Given the description of an element on the screen output the (x, y) to click on. 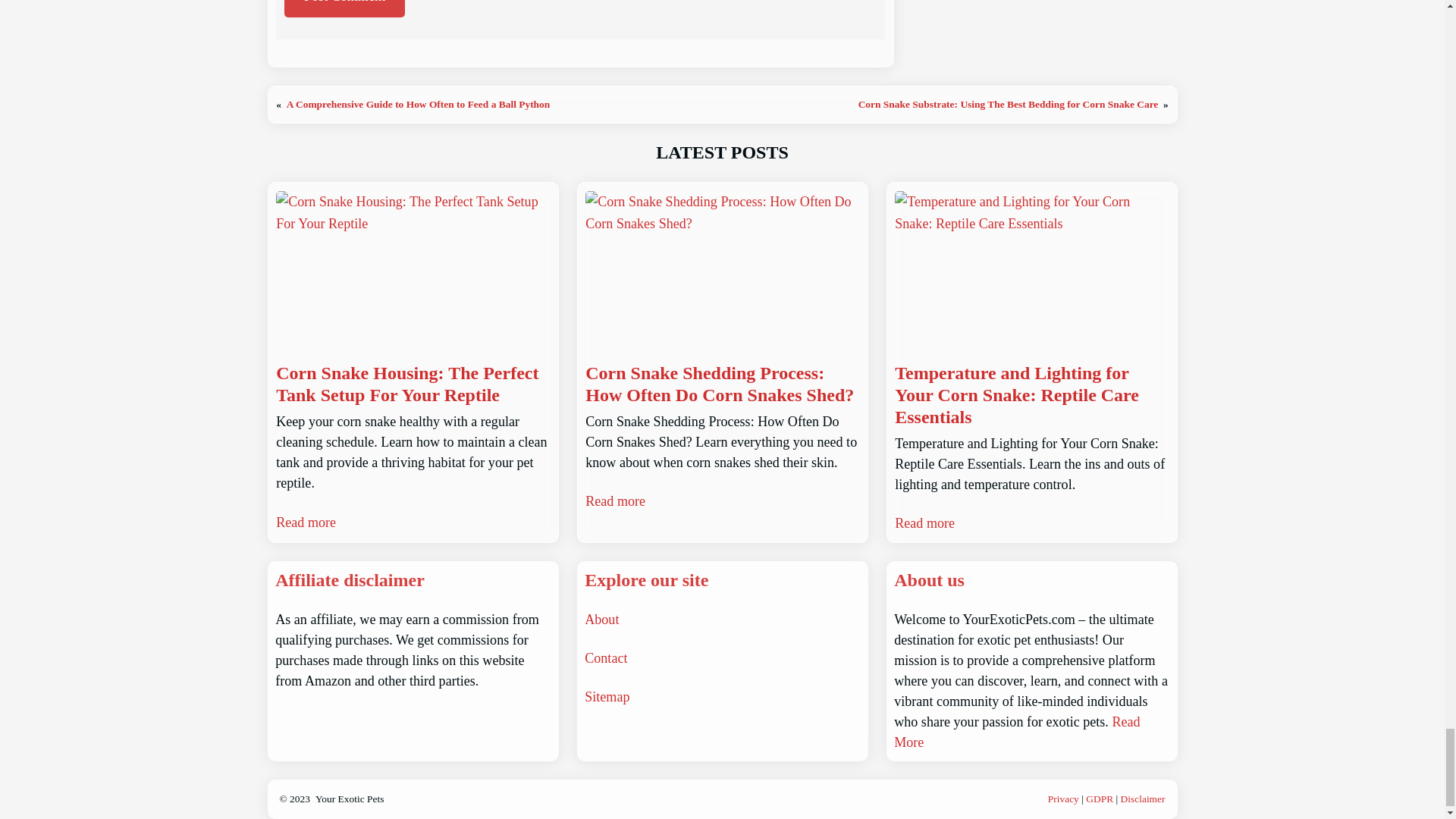
Post Comment (343, 8)
Corn Snake Housing: The Perfect Tank Setup For Your Reptile (413, 384)
About (601, 619)
Post Comment (343, 8)
Read more (306, 522)
Read more (615, 501)
Read more (925, 523)
A Comprehensive Guide to How Often to Feed a Ball Python (418, 103)
